Given the description of an element on the screen output the (x, y) to click on. 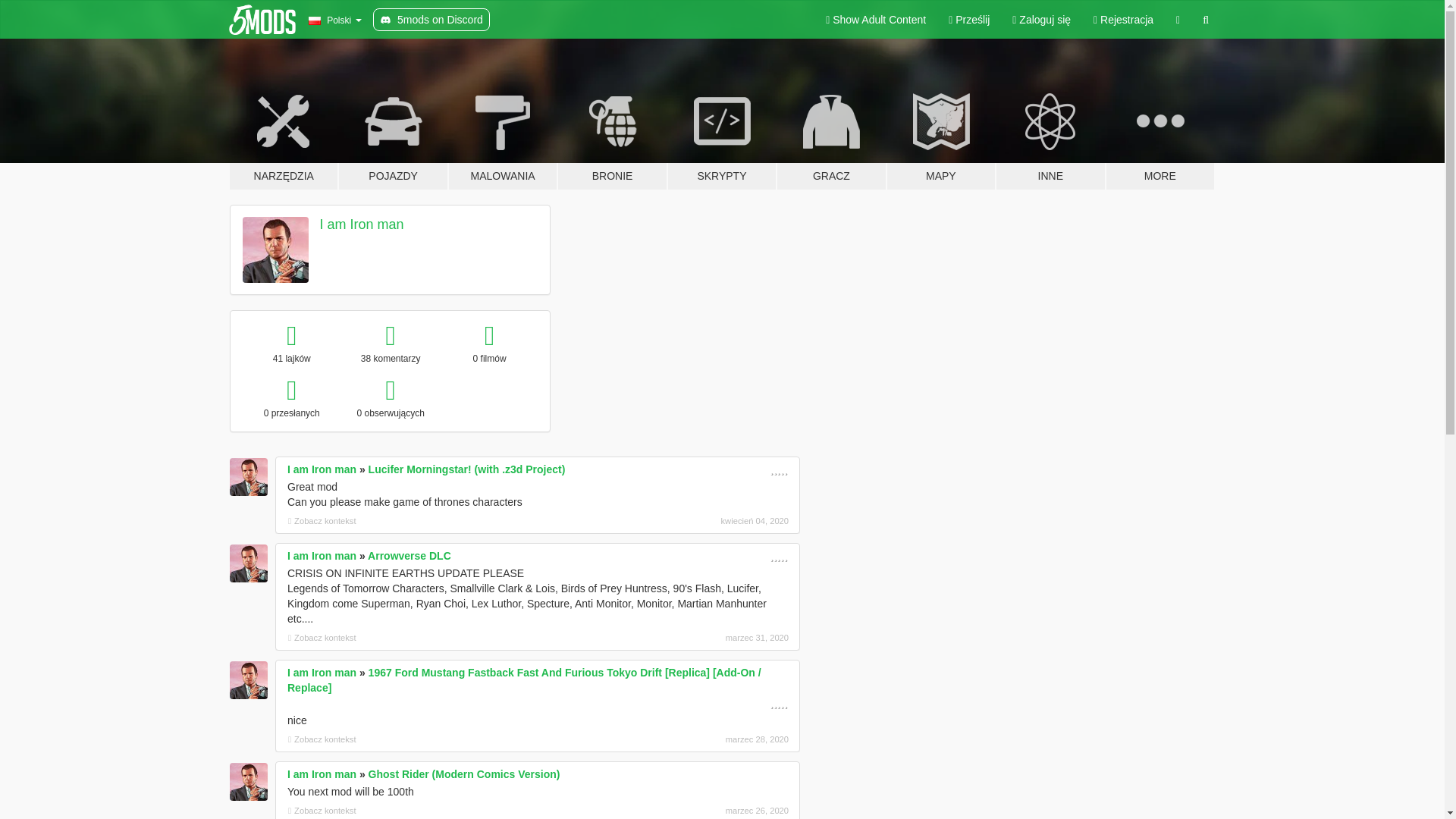
  Polski (334, 19)
Rejestracja (1122, 19)
Light mode (875, 19)
Niesamowite! (778, 555)
5mods on Discord (430, 19)
Niesamowite! (778, 469)
Show Adult Content (875, 19)
Niesamowite! (778, 702)
